Given the description of an element on the screen output the (x, y) to click on. 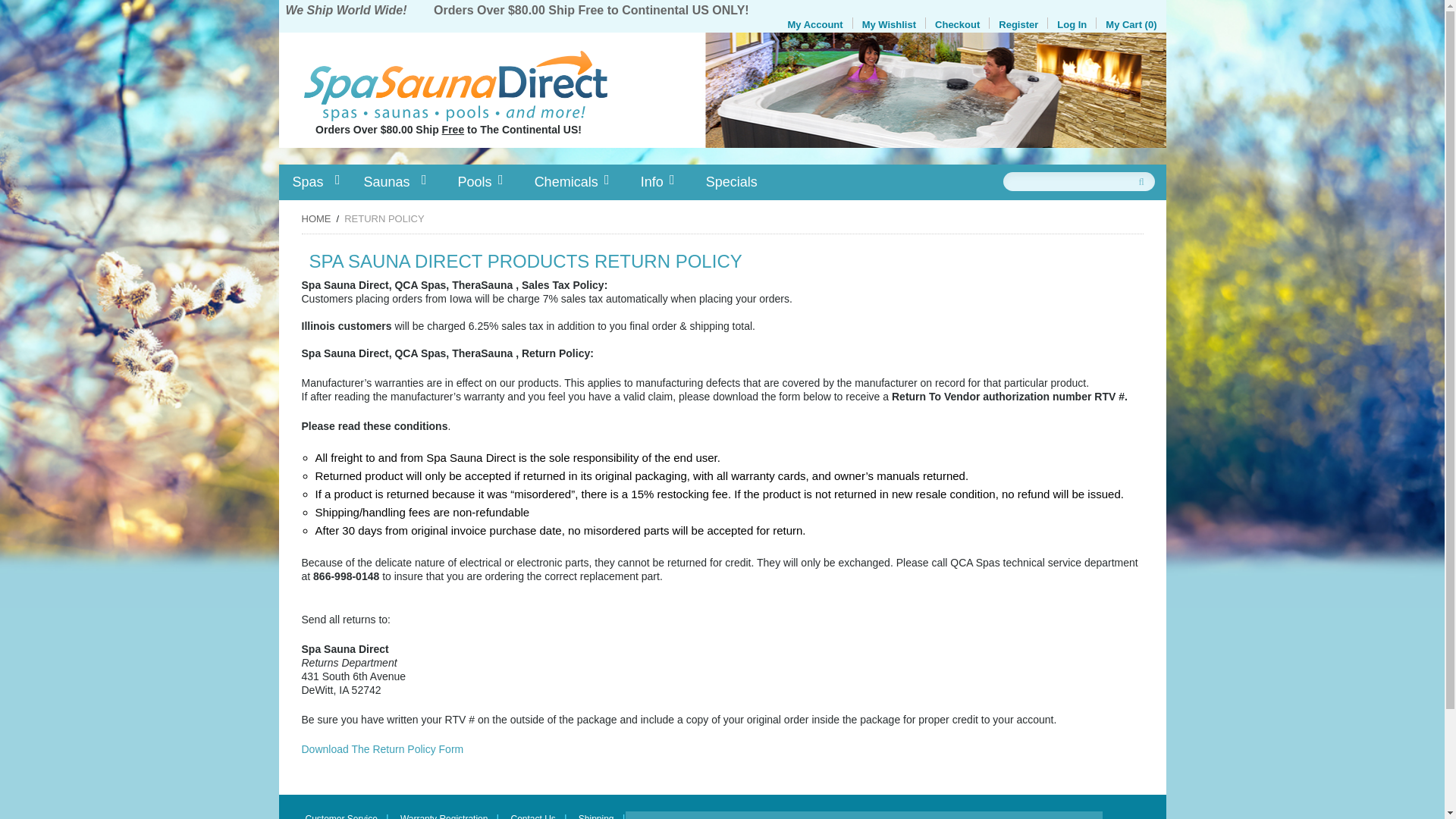
Spas (314, 181)
Checkout (956, 24)
Search (1142, 176)
Checkout (956, 24)
Register (1018, 24)
My Account (815, 24)
My Wishlist (888, 24)
Log In (1071, 24)
Register (1018, 24)
Pools (474, 181)
My Account (815, 24)
Go to Home Page (316, 218)
Saunas (393, 181)
Log In (1071, 24)
My Wishlist (888, 24)
